Given the description of an element on the screen output the (x, y) to click on. 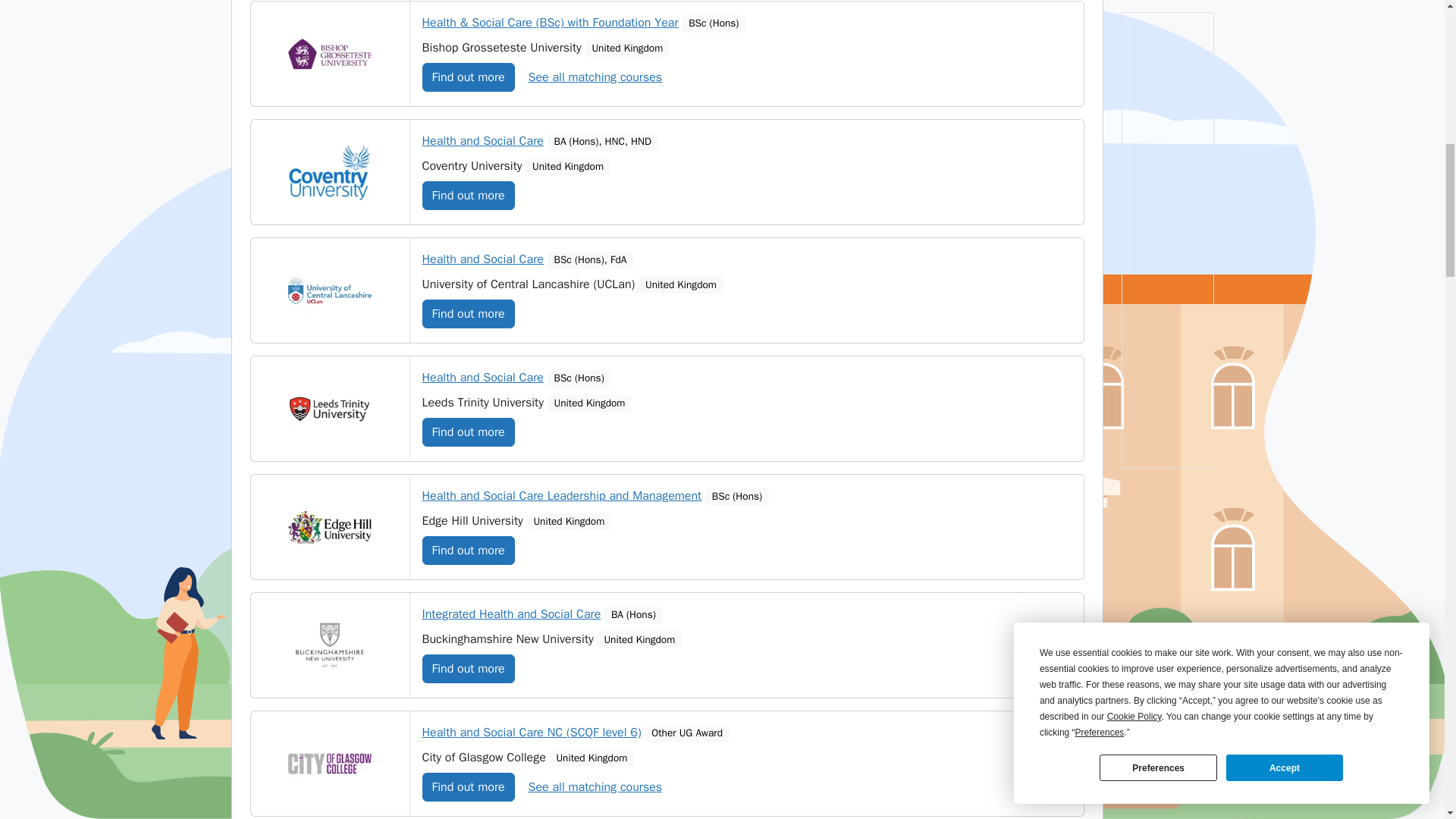
Buckinghamshire New University (329, 645)
Bishop Grosseteste University (329, 53)
City of Glasgow College (329, 763)
Edge Hill University (329, 527)
Coventry University (329, 171)
Leeds Trinity University (329, 408)
